Given the description of an element on the screen output the (x, y) to click on. 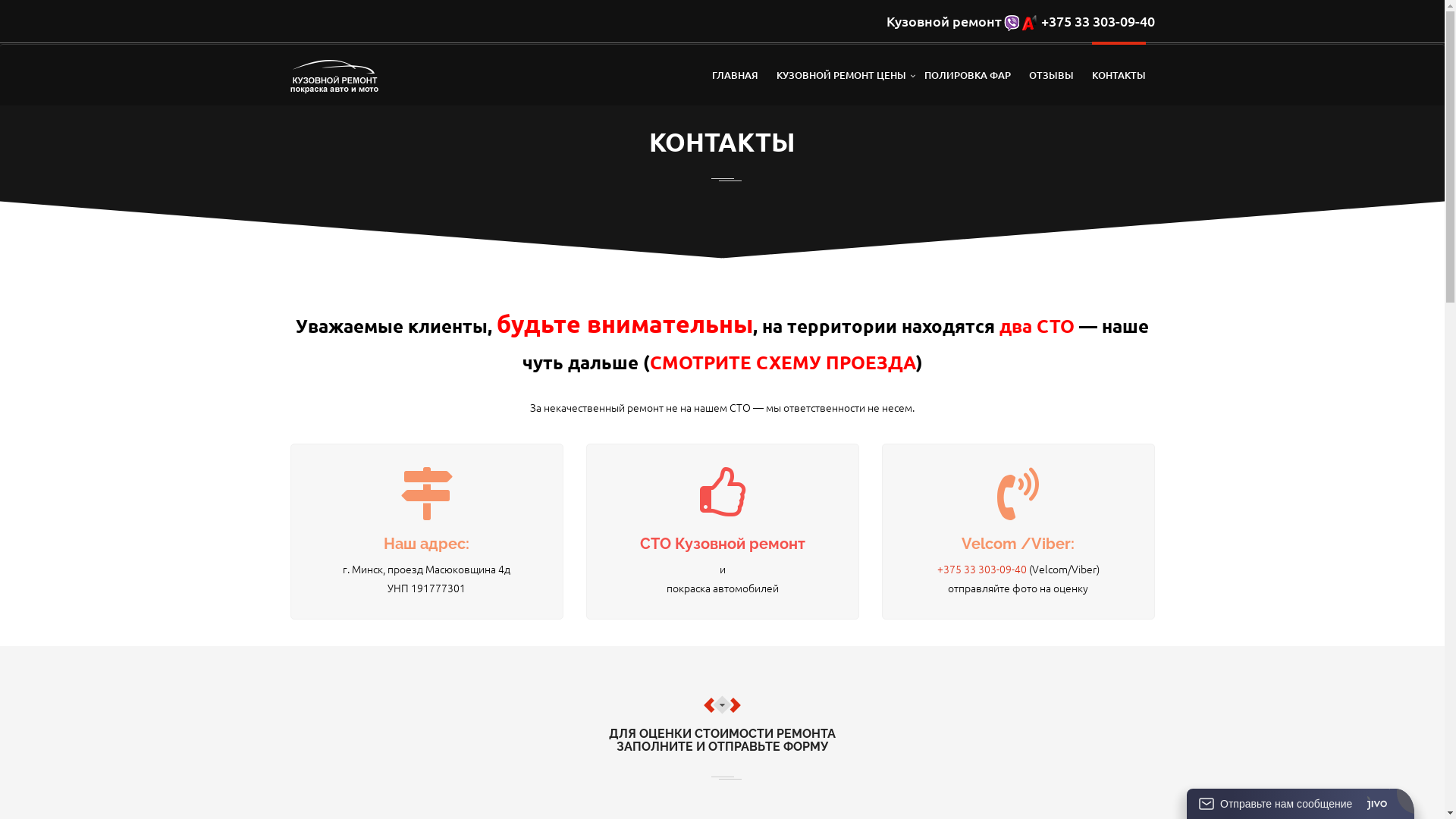
+375 33 303-09-40 Element type: text (981, 568)
+375 33 303-09-40 Element type: text (1097, 20)
